Given the description of an element on the screen output the (x, y) to click on. 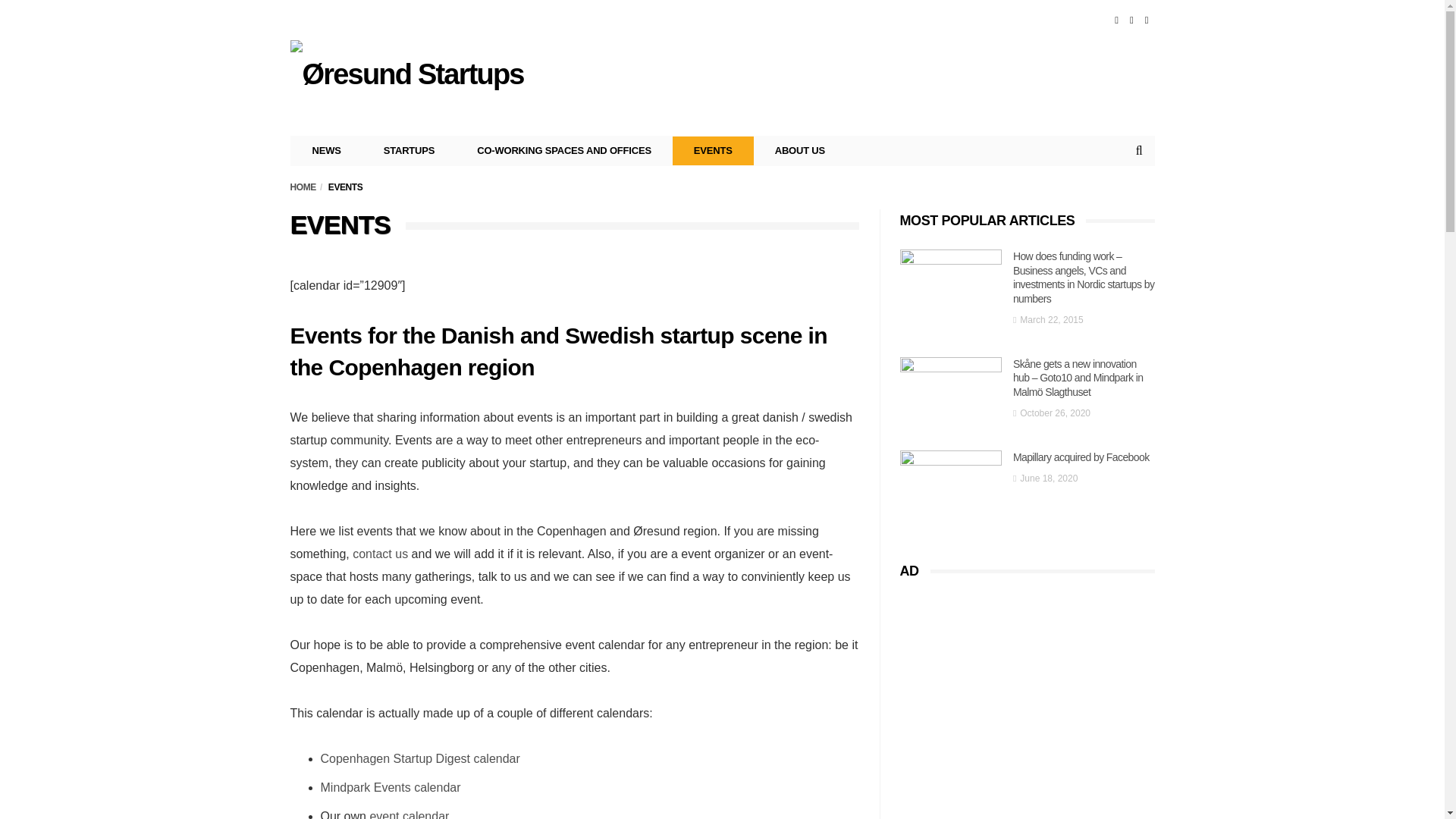
Mapillary acquired by Facebook (950, 483)
ABOUT US (799, 150)
CO-WORKING SPACES AND OFFICES (563, 150)
calendar (436, 787)
Mindpark Events (365, 787)
contact us (379, 553)
HOME (302, 186)
calendar (496, 758)
EVENTS (713, 150)
event calendar (408, 814)
Copenhagen Startup Digest (394, 758)
NEWS (326, 150)
STARTUPS (409, 150)
